Given the description of an element on the screen output the (x, y) to click on. 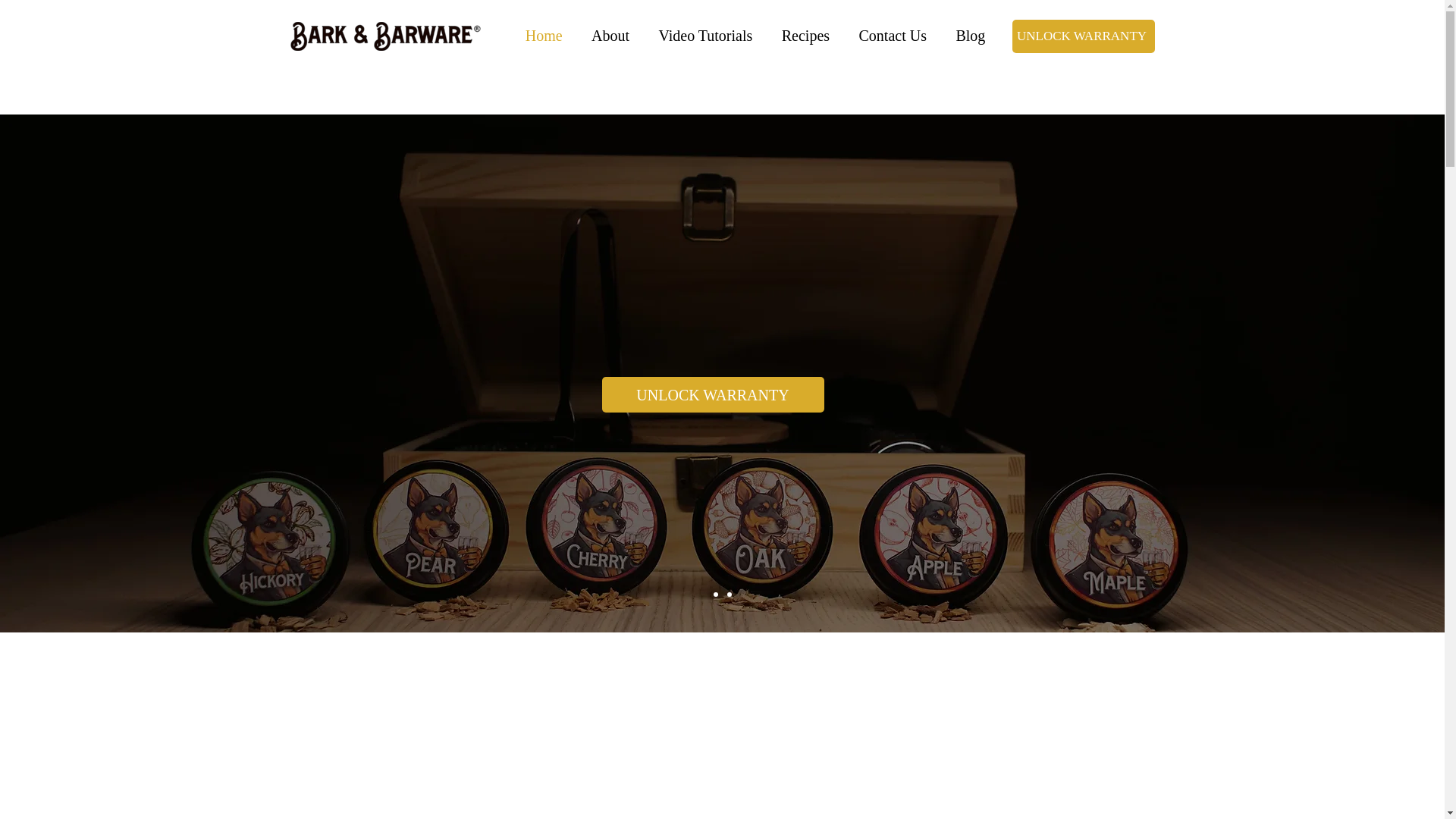
About (609, 35)
UNLOCK WARRANTY (1082, 36)
Video Tutorials (704, 35)
Home (543, 35)
UNLOCK WARRANTY (713, 394)
Contact Us (892, 35)
Blog (969, 35)
Recipes (805, 35)
